Given the description of an element on the screen output the (x, y) to click on. 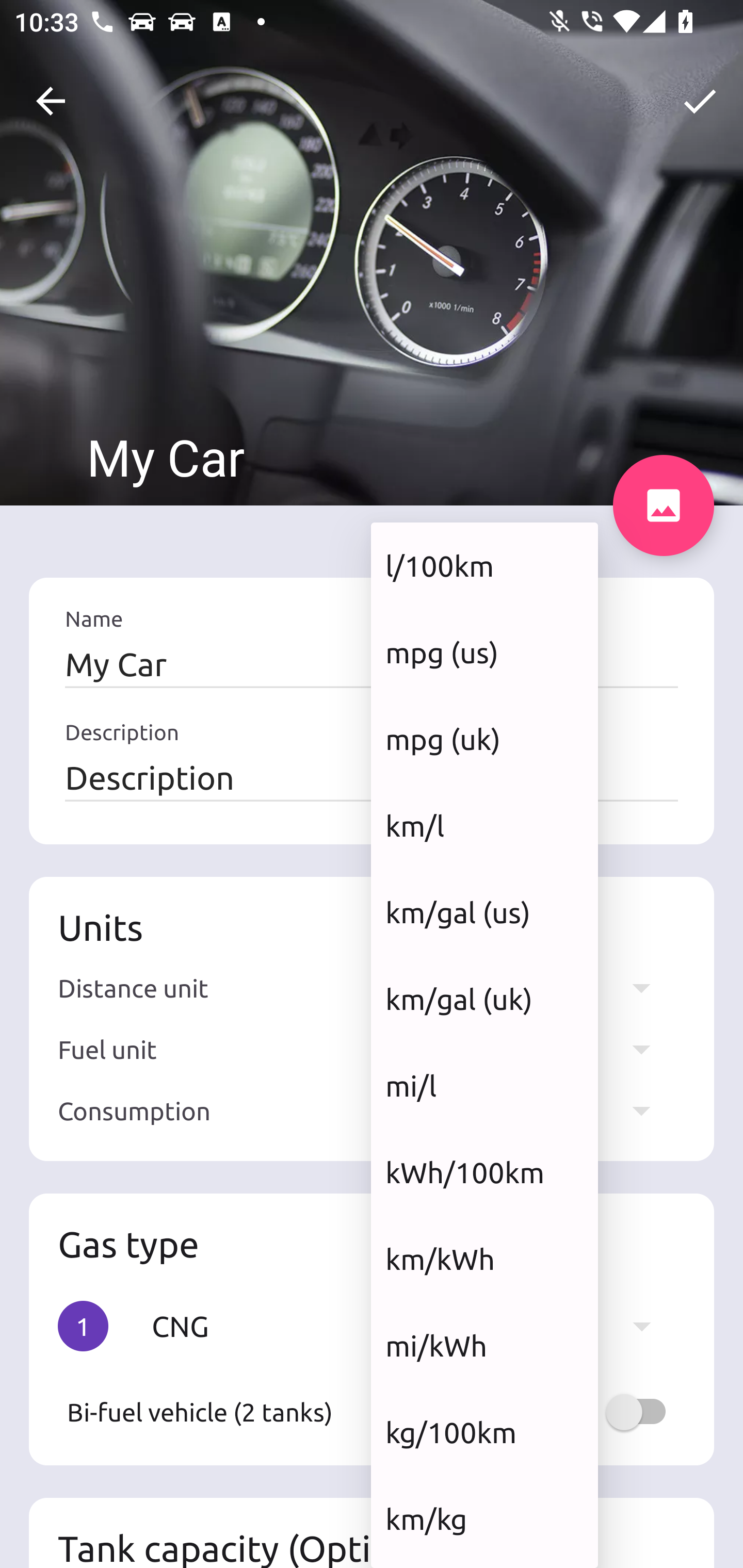
l/100km (484, 565)
mpg (us) (484, 652)
mpg (uk) (484, 739)
km/l (484, 825)
km/gal (us) (484, 912)
km/gal (uk) (484, 999)
mi/l (484, 1085)
kWh/100km (484, 1171)
km/kWh (484, 1259)
mi/kWh (484, 1346)
kg/100km (484, 1432)
km/kg (484, 1518)
